Given the description of an element on the screen output the (x, y) to click on. 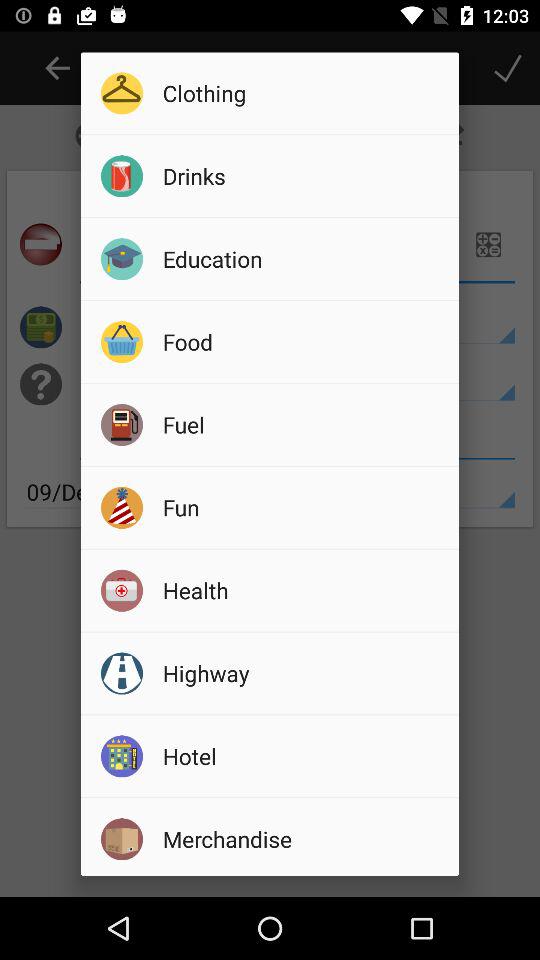
scroll to the fun icon (303, 507)
